Given the description of an element on the screen output the (x, y) to click on. 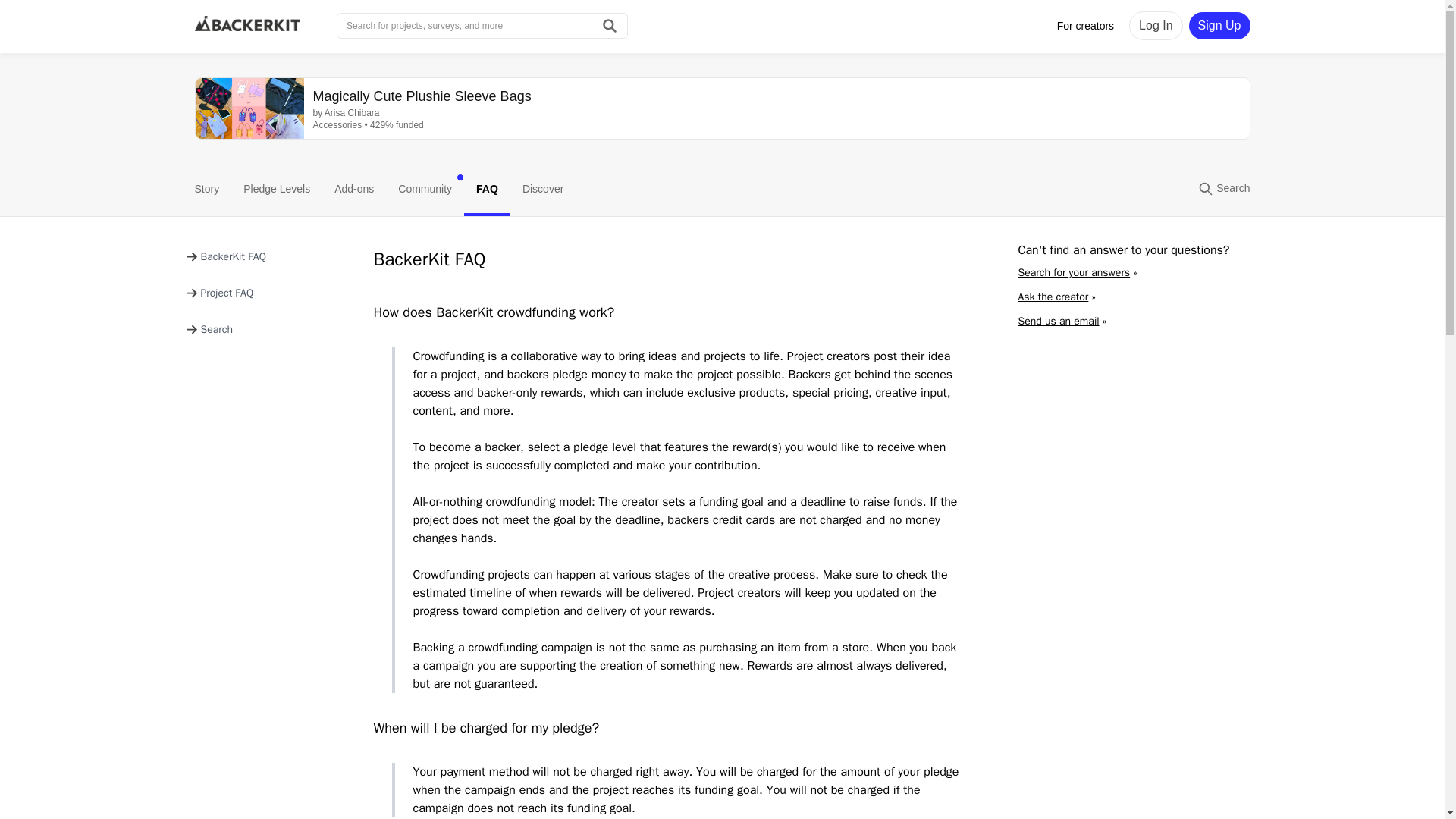
home (246, 25)
Search (208, 328)
For creators (1085, 25)
Send us an email (1058, 320)
Add-ons (353, 190)
Ask the creator (1052, 296)
Search for your answers (1073, 272)
FAQ (487, 190)
Log In (1155, 25)
Project FAQ (218, 292)
